Given the description of an element on the screen output the (x, y) to click on. 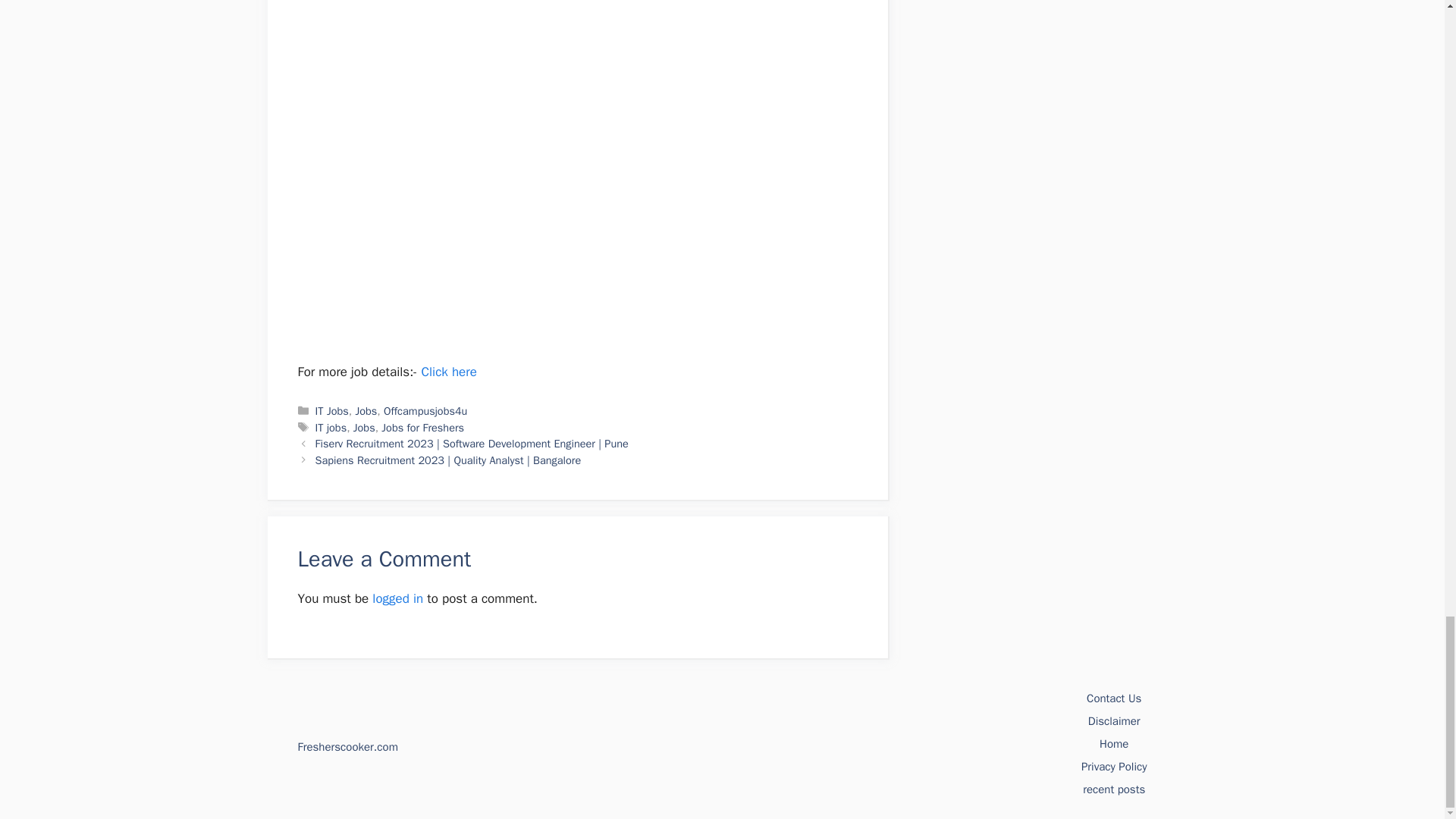
Jobs (364, 427)
Jobs for Freshers (422, 427)
IT Jobs (332, 410)
Click here (448, 371)
Contact Us (1113, 698)
logged in (397, 598)
Offcampusjobs4u (425, 410)
IT jobs (331, 427)
Jobs (366, 410)
Disclaimer (1113, 721)
